Given the description of an element on the screen output the (x, y) to click on. 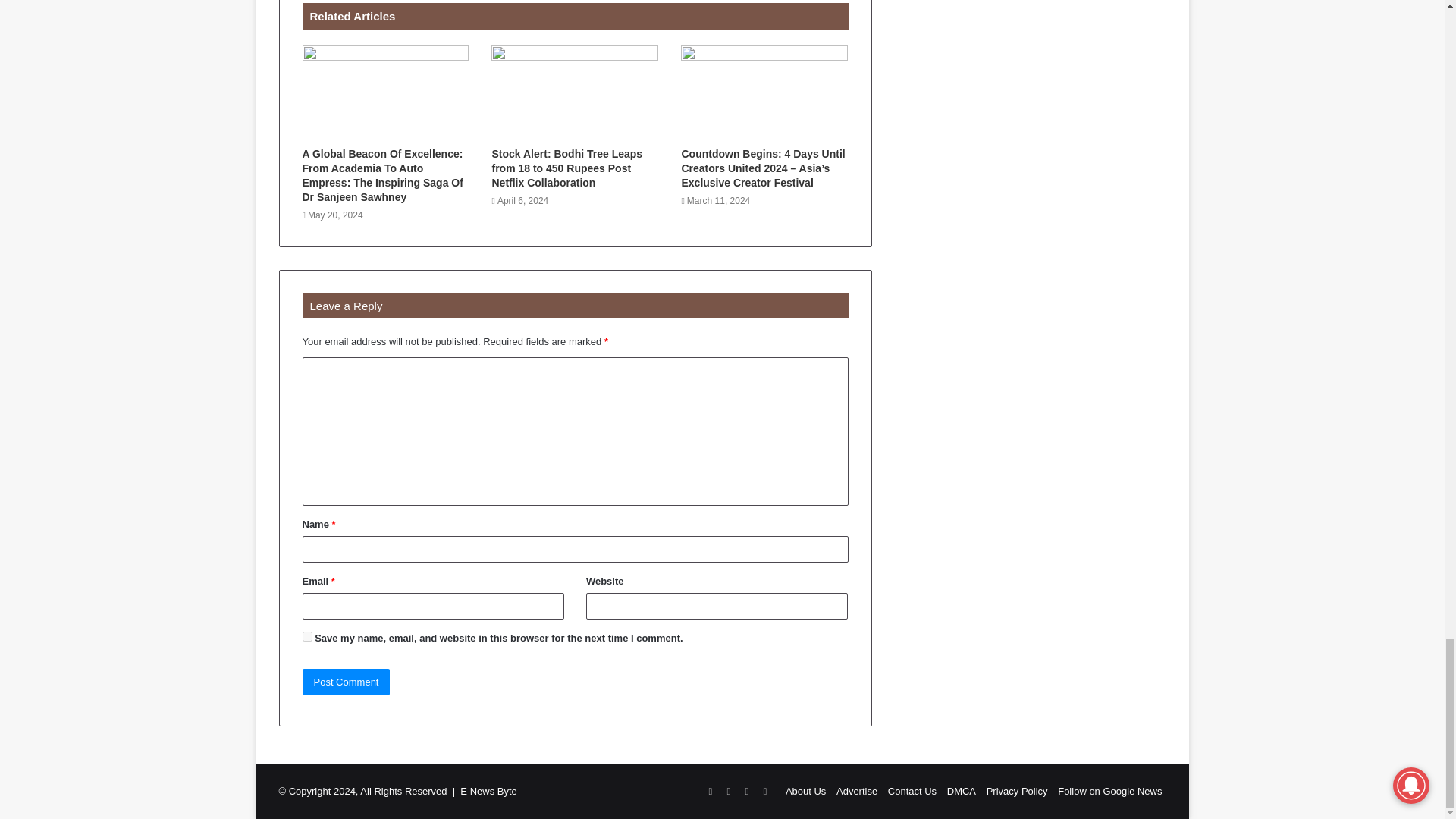
yes (306, 636)
Post Comment (345, 682)
